Given the description of an element on the screen output the (x, y) to click on. 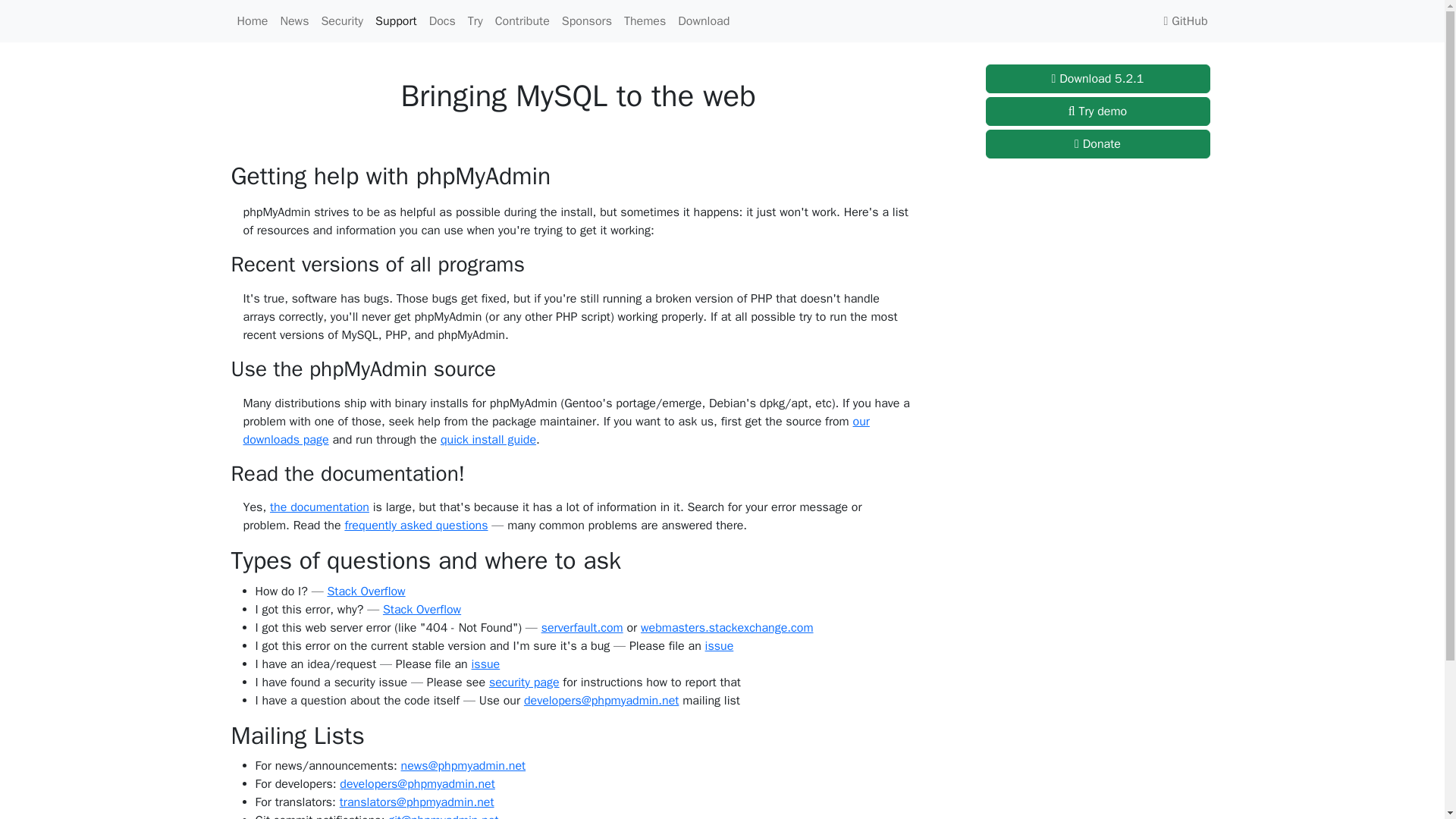
Download 5.2.1 (1097, 78)
frequently asked questions (415, 525)
the documentation (319, 507)
issue (485, 663)
Try (475, 20)
News (293, 20)
our downloads page (556, 430)
Docs (442, 20)
Contribute (522, 20)
